Given the description of an element on the screen output the (x, y) to click on. 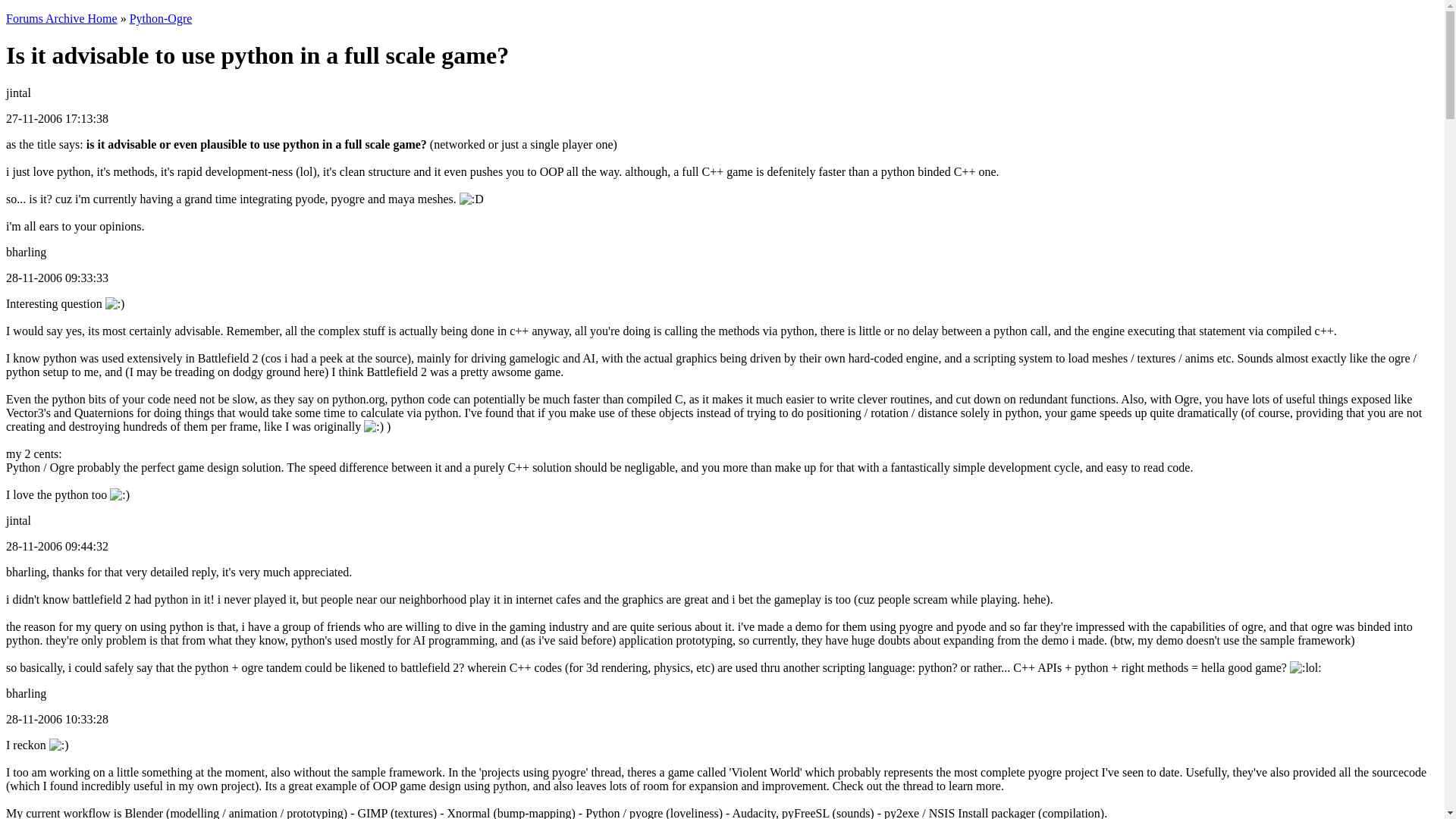
Smile (114, 304)
Python-Ogre (160, 18)
Very Happy (471, 199)
Smile (58, 745)
Smile (374, 427)
Forums Archive Home (61, 18)
Smile (119, 495)
Laughing (1306, 667)
